Given the description of an element on the screen output the (x, y) to click on. 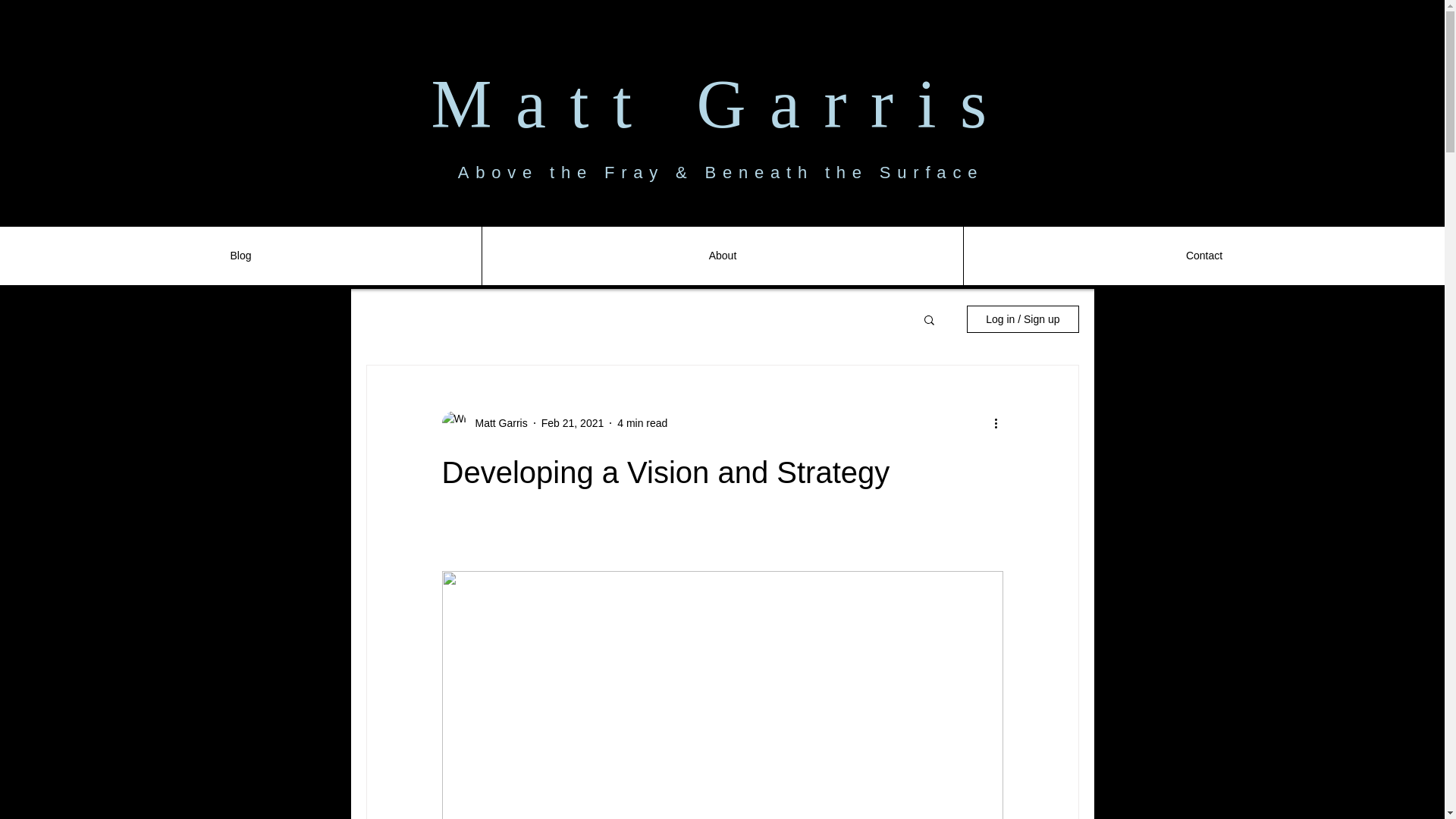
About (721, 255)
Matt Garris (496, 423)
Blog (240, 255)
Feb 21, 2021 (572, 422)
Matt Garris (720, 103)
4 min read (641, 422)
